Given the description of an element on the screen output the (x, y) to click on. 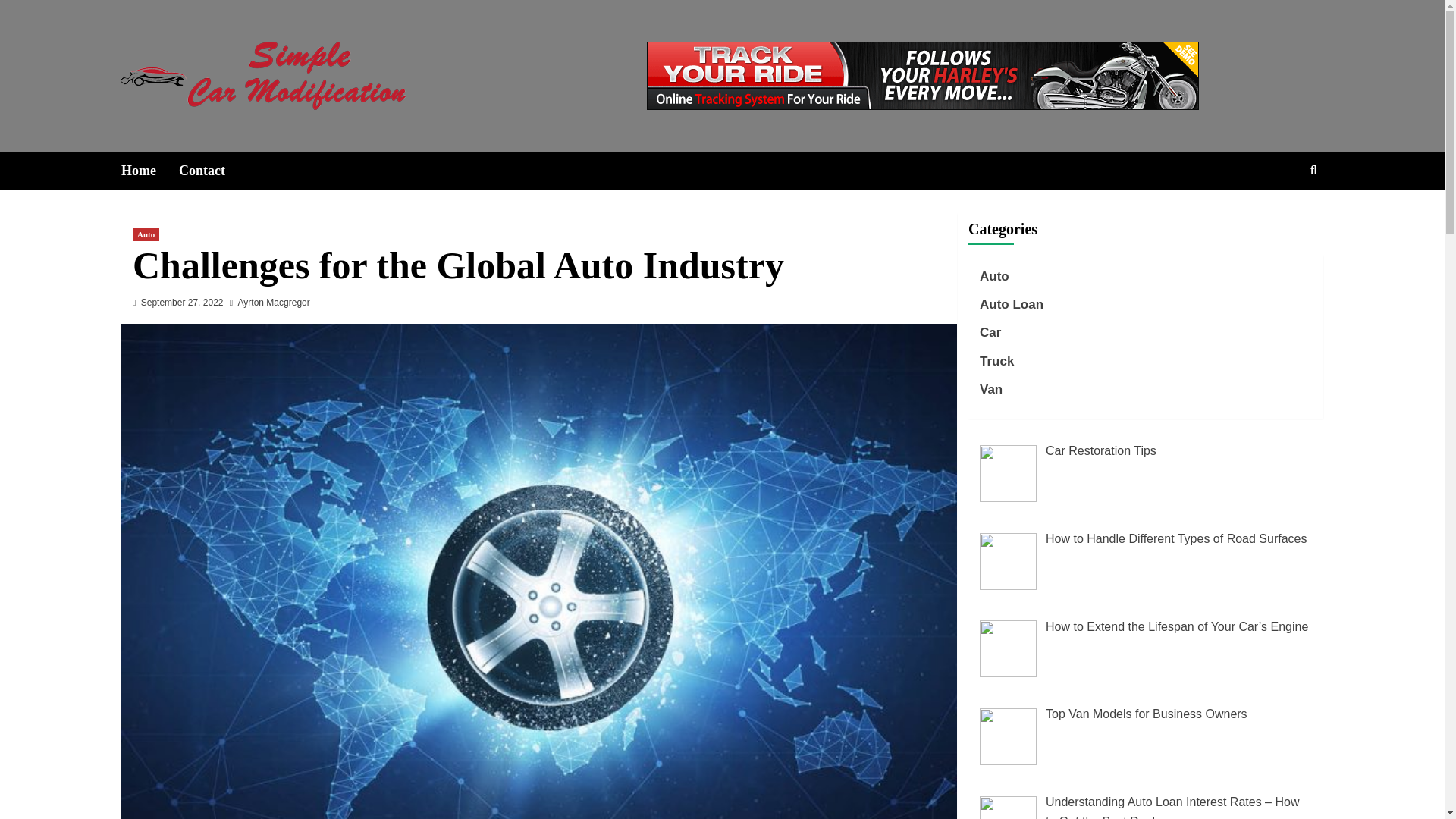
Search (1278, 219)
September 27, 2022 (182, 302)
Auto (994, 280)
Auto (145, 234)
Contact (213, 170)
Car Restoration Tips (1100, 450)
Home (149, 170)
Truck (996, 365)
Ayrton Macgregor (274, 302)
How to Handle Different Types of Road Surfaces (1175, 538)
